Given the description of an element on the screen output the (x, y) to click on. 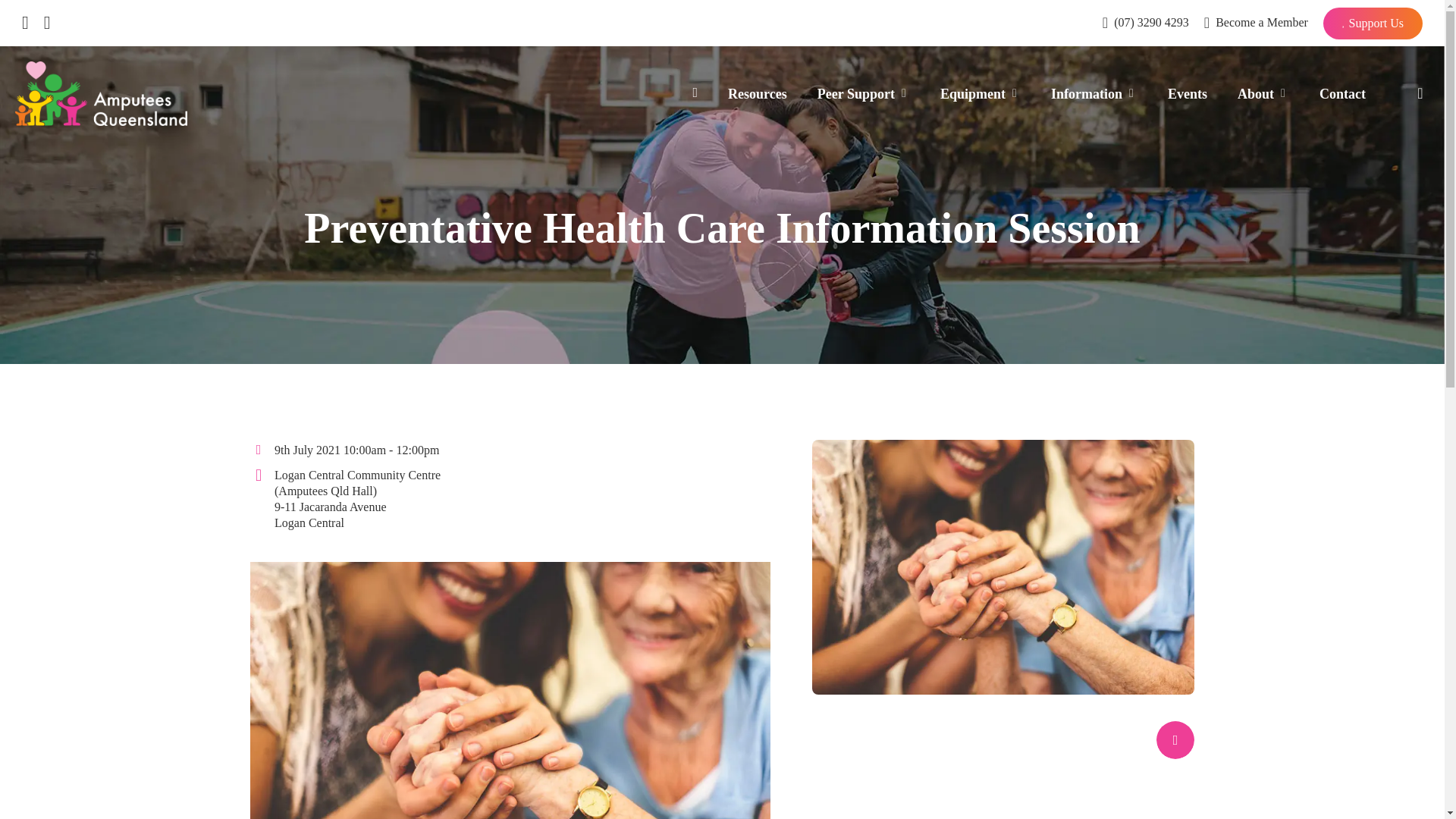
Equipment (979, 93)
  Become a Member (1255, 22)
search (1419, 93)
Peer Support (863, 93)
Support Us (1372, 23)
About (1263, 93)
Information (1094, 93)
Resources (757, 93)
Contact (1342, 93)
Events (1188, 93)
